Given the description of an element on the screen output the (x, y) to click on. 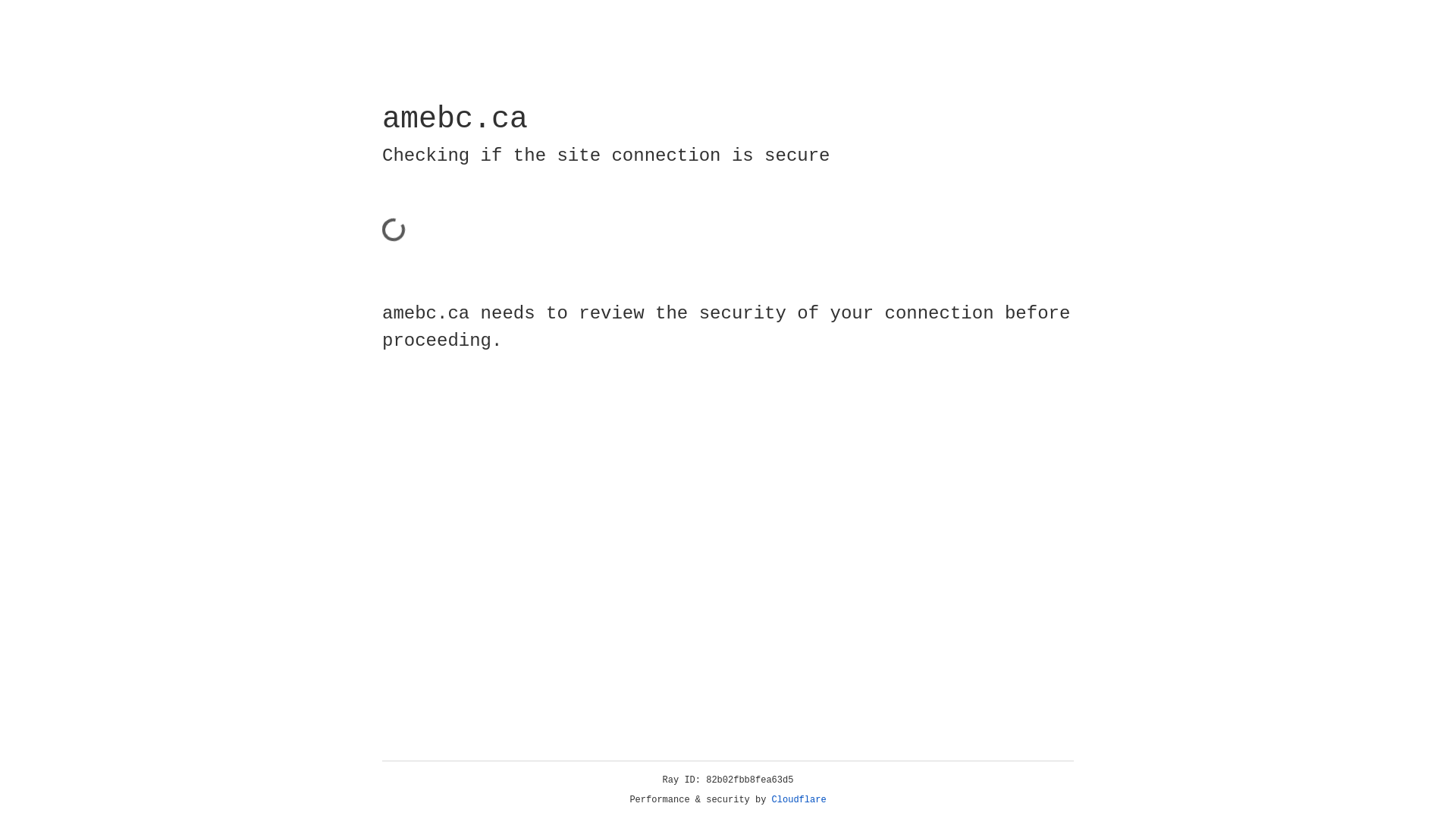
Cloudflare Element type: text (798, 799)
